Given the description of an element on the screen output the (x, y) to click on. 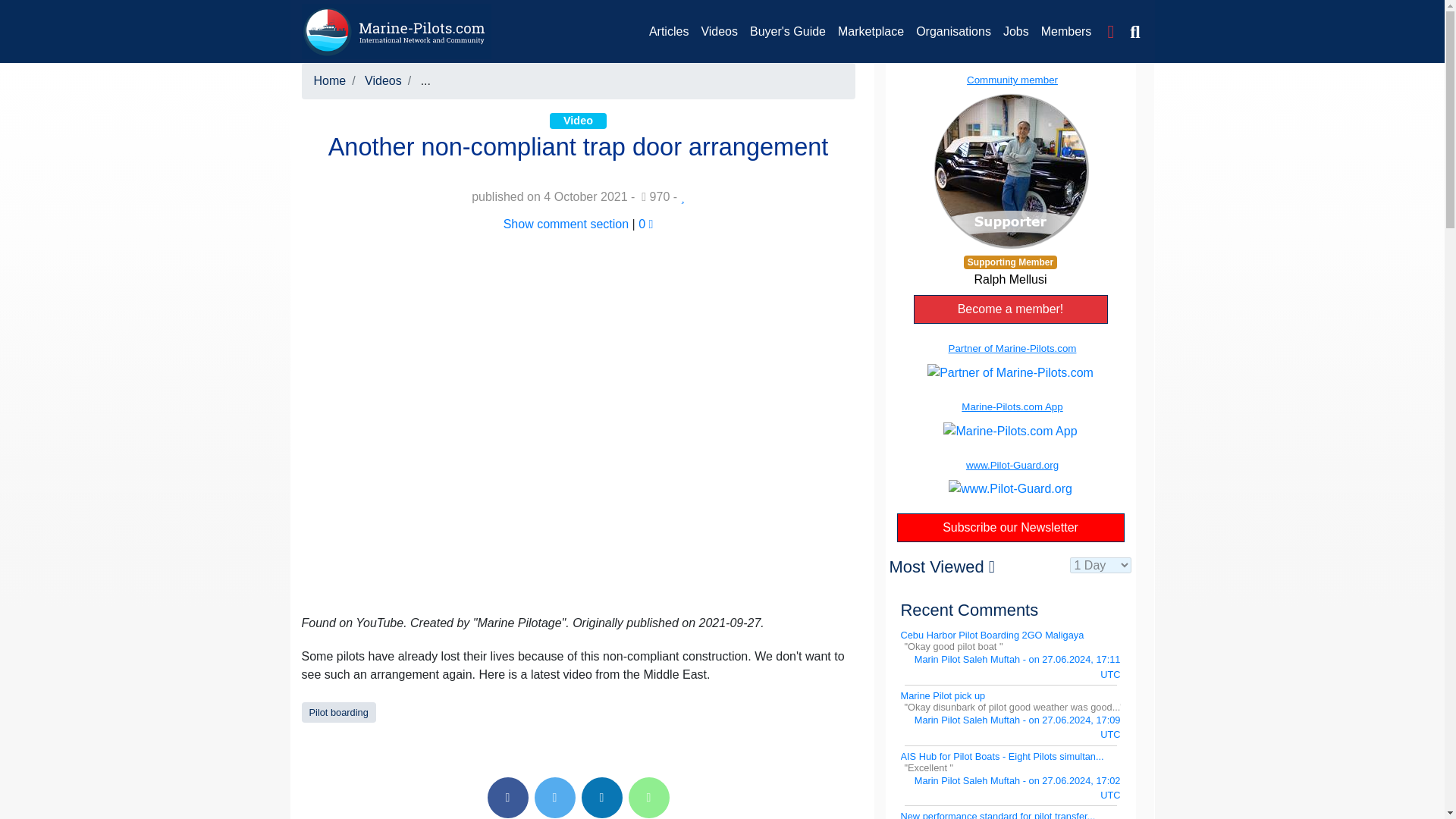
Articles (668, 31)
970 (655, 196)
Pilot boarding (338, 712)
all-time page views (655, 196)
Marketplace (870, 31)
Buyer's Guide (787, 31)
Organisations (953, 31)
Show comment section (565, 223)
Pilot boarding (338, 712)
Members (1066, 31)
